Given the description of an element on the screen output the (x, y) to click on. 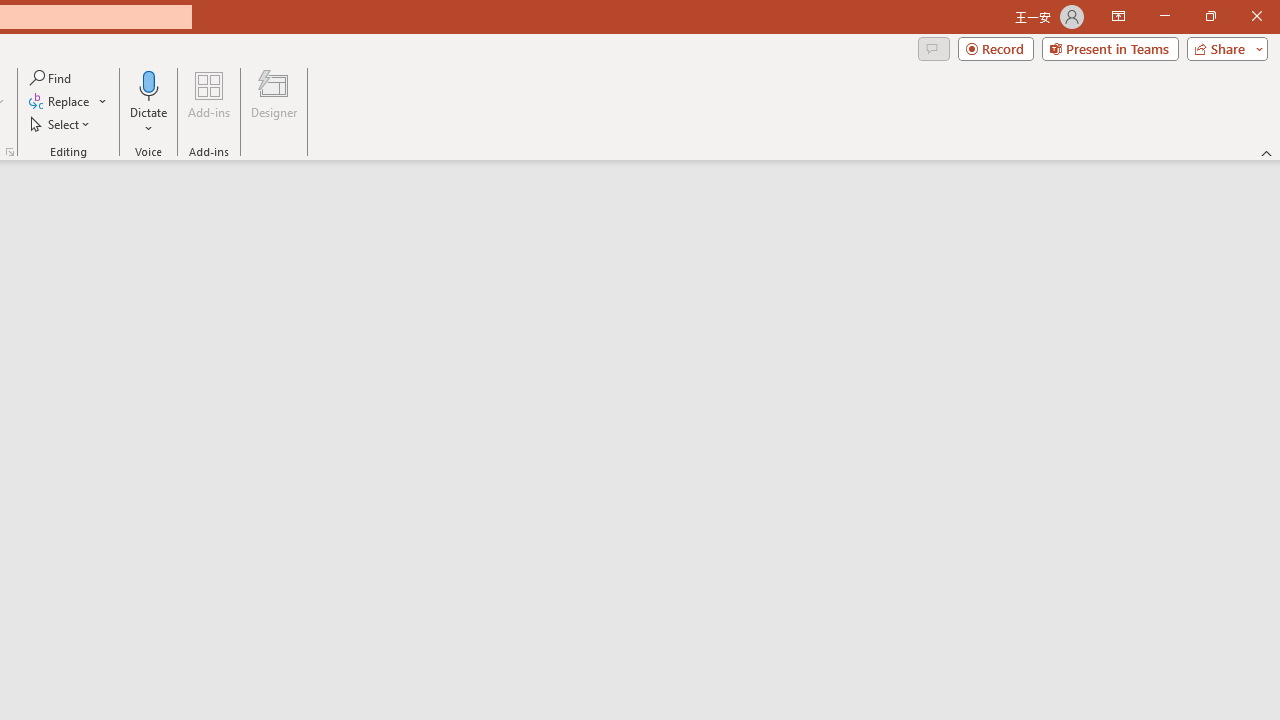
Select (61, 124)
Replace... (60, 101)
Replace... (68, 101)
Find... (51, 78)
Format Object... (9, 151)
